Given the description of an element on the screen output the (x, y) to click on. 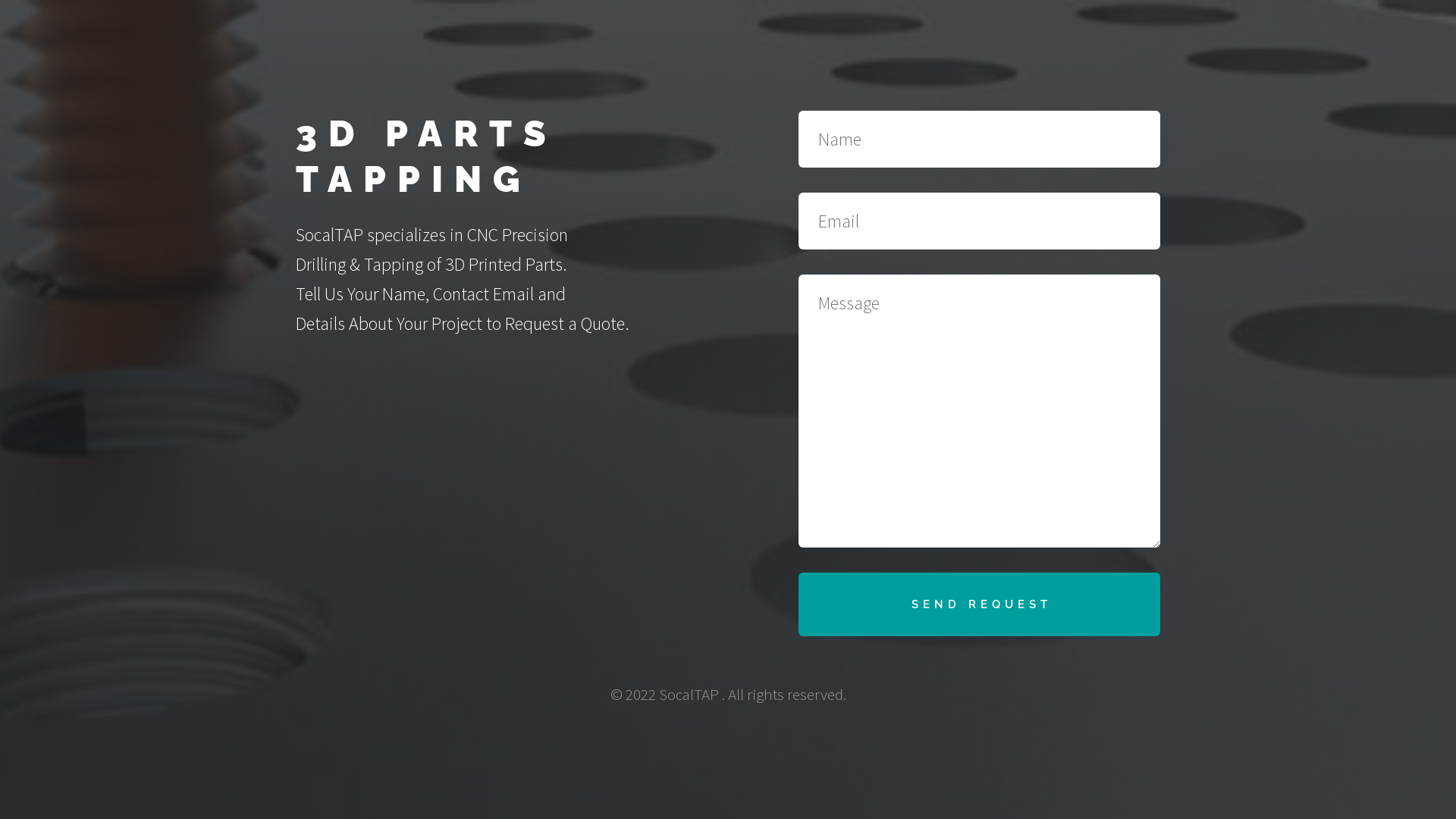
SEND REQUEST Element type: text (979, 604)
